Given the description of an element on the screen output the (x, y) to click on. 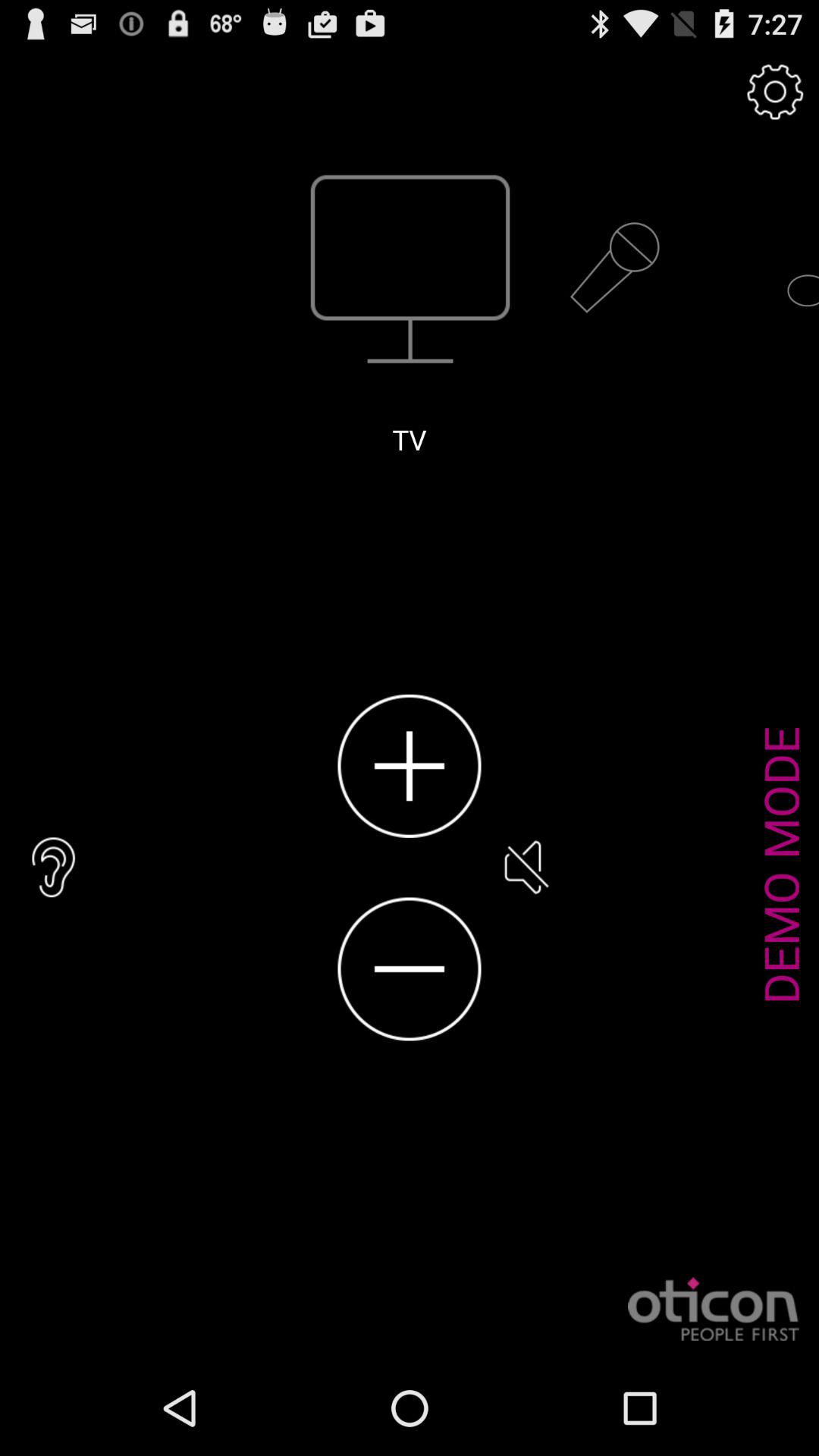
turn off the item next to the demo mode (524, 867)
